Given the description of an element on the screen output the (x, y) to click on. 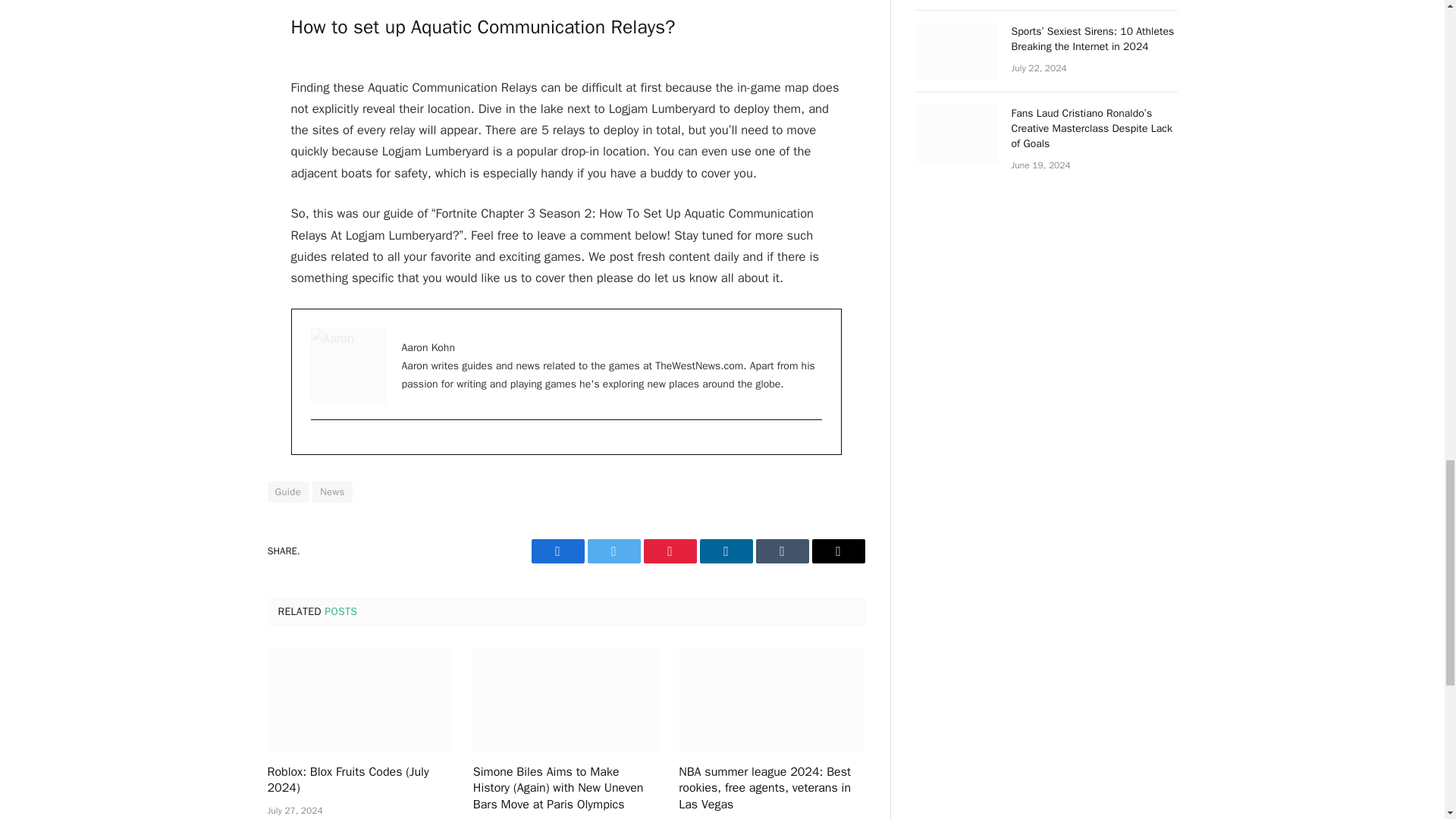
Guide (287, 491)
